Given the description of an element on the screen output the (x, y) to click on. 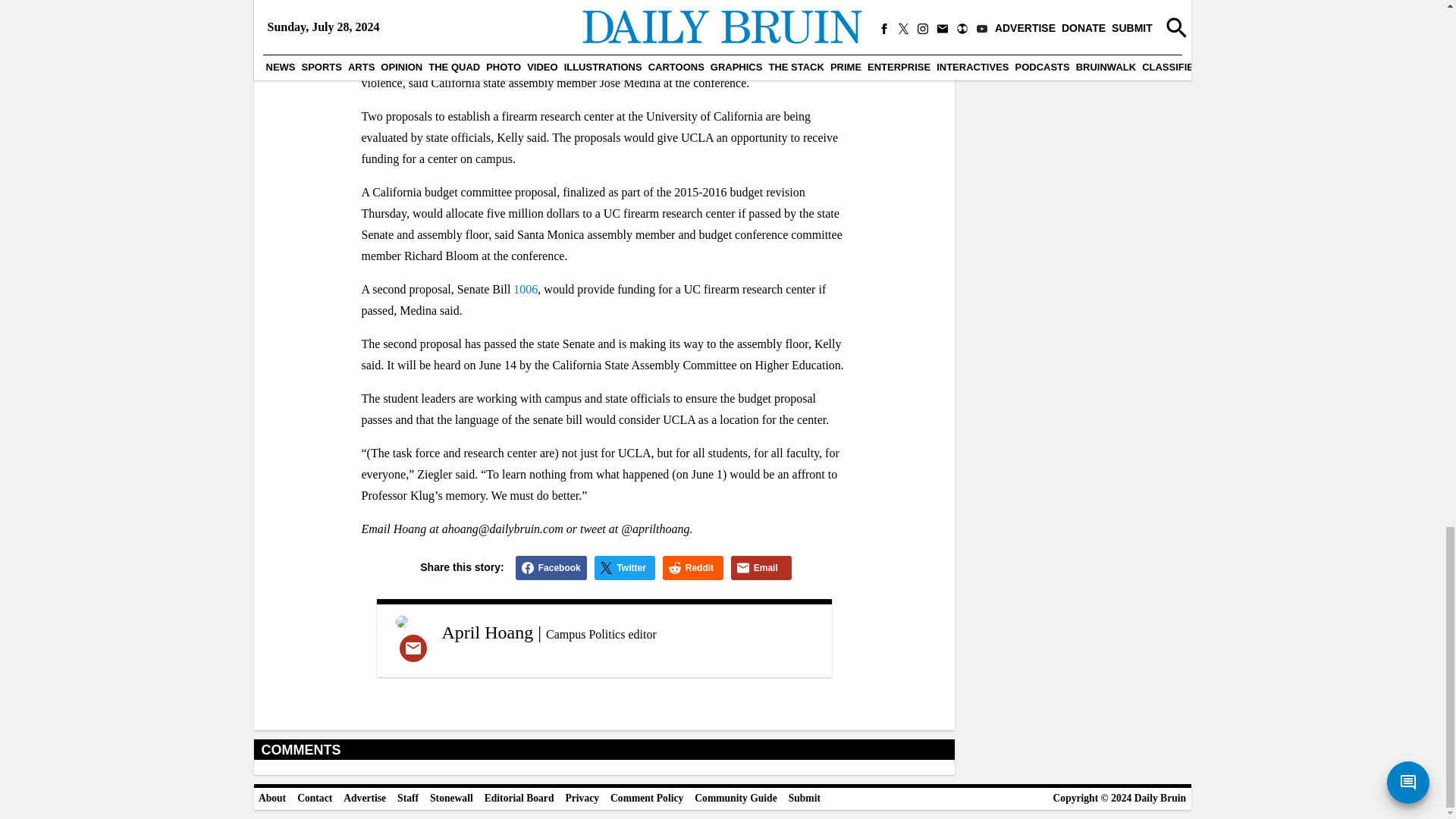
1006 (525, 288)
Twitter (624, 567)
Facebook (550, 567)
